Given the description of an element on the screen output the (x, y) to click on. 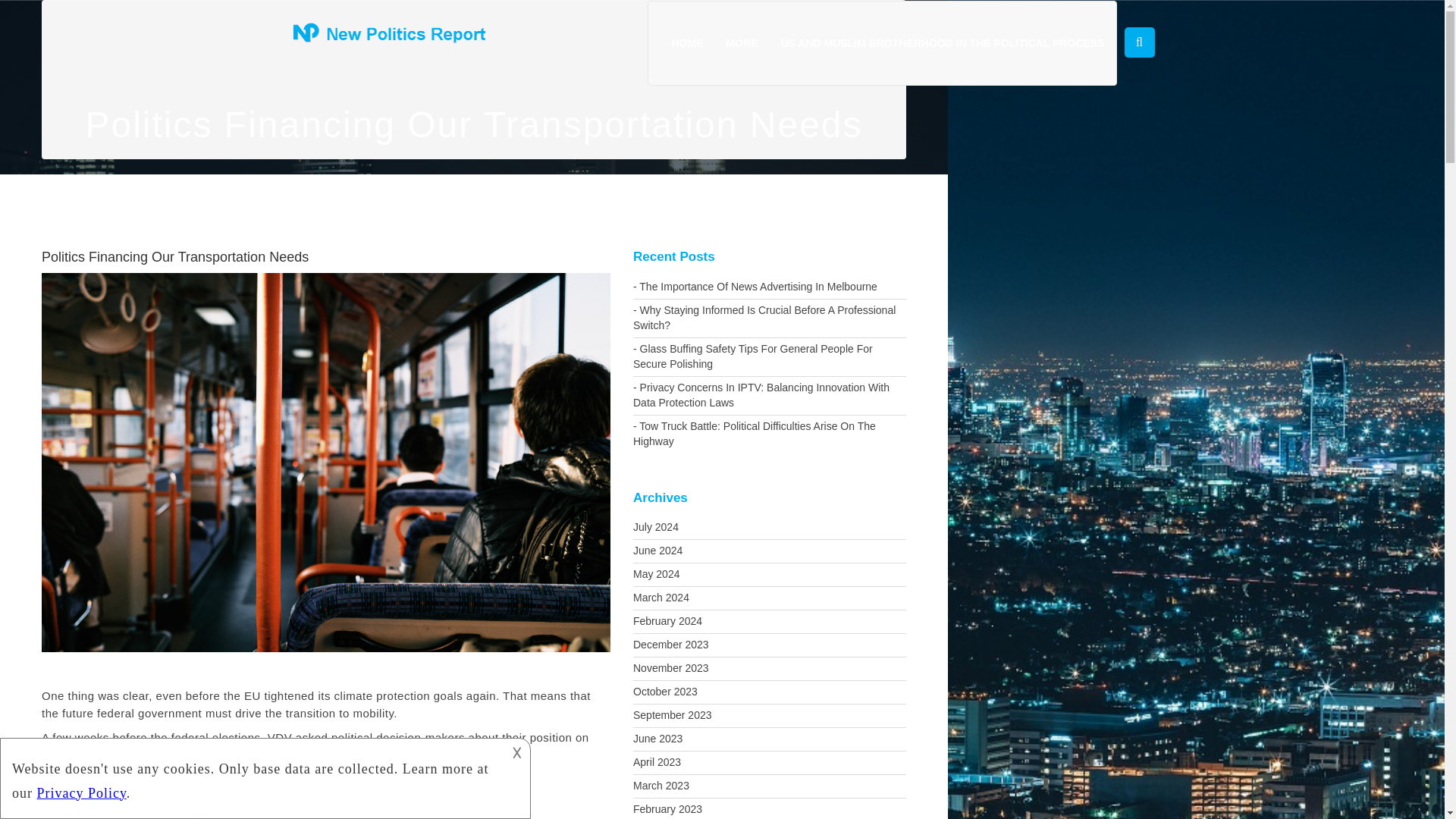
description (252, 776)
March 2023 (769, 785)
September 2023 (769, 715)
May 2024 (769, 574)
November 2023 (769, 668)
March 2024 (769, 598)
December 2023 (769, 644)
October 2023 (769, 691)
February 2024 (769, 621)
July 2024 (769, 527)
June 2023 (769, 739)
April 2023 (769, 762)
